Given the description of an element on the screen output the (x, y) to click on. 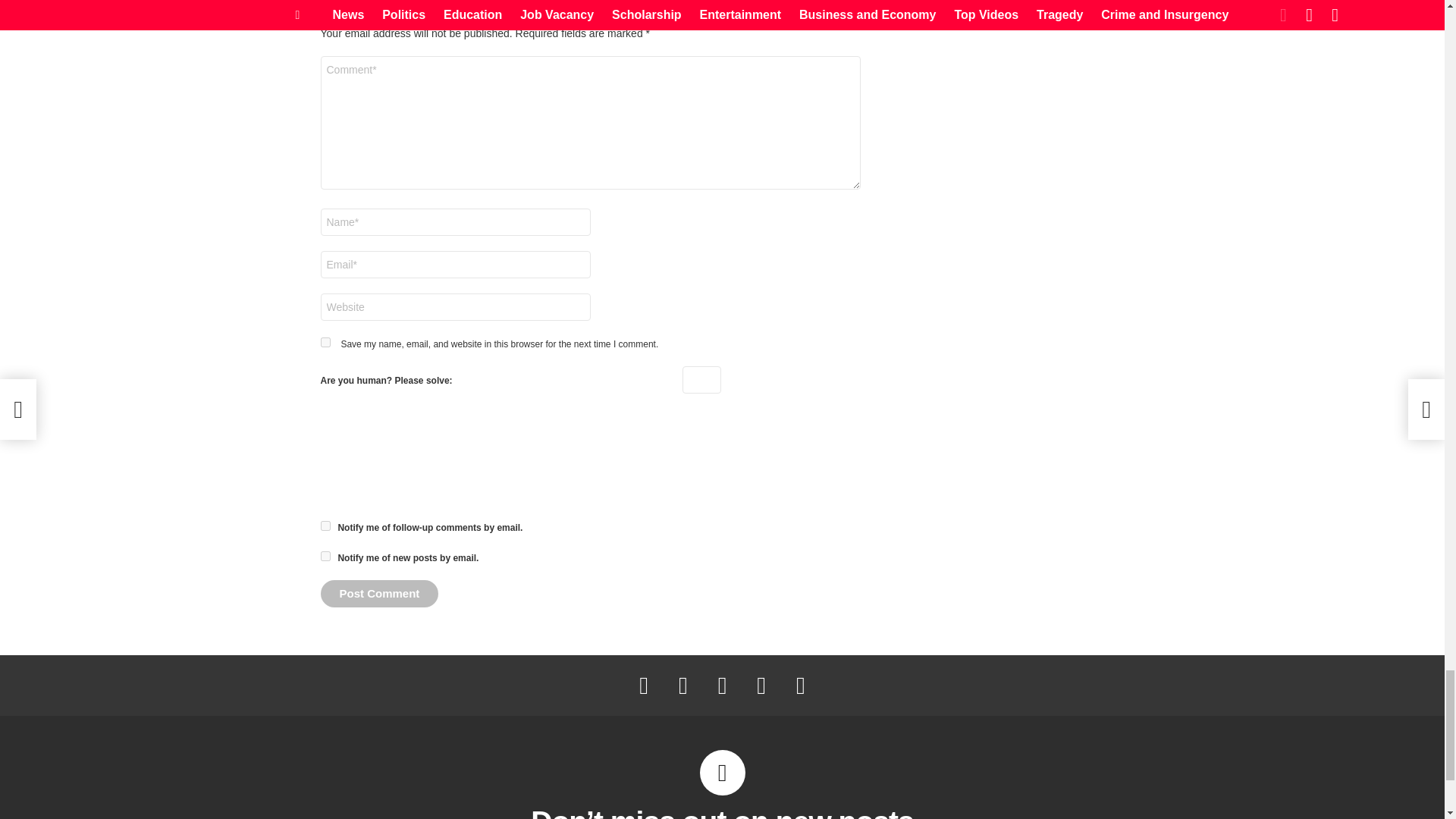
subscribe (325, 556)
subscribe (325, 525)
yes (325, 342)
Post Comment (379, 593)
